Given the description of an element on the screen output the (x, y) to click on. 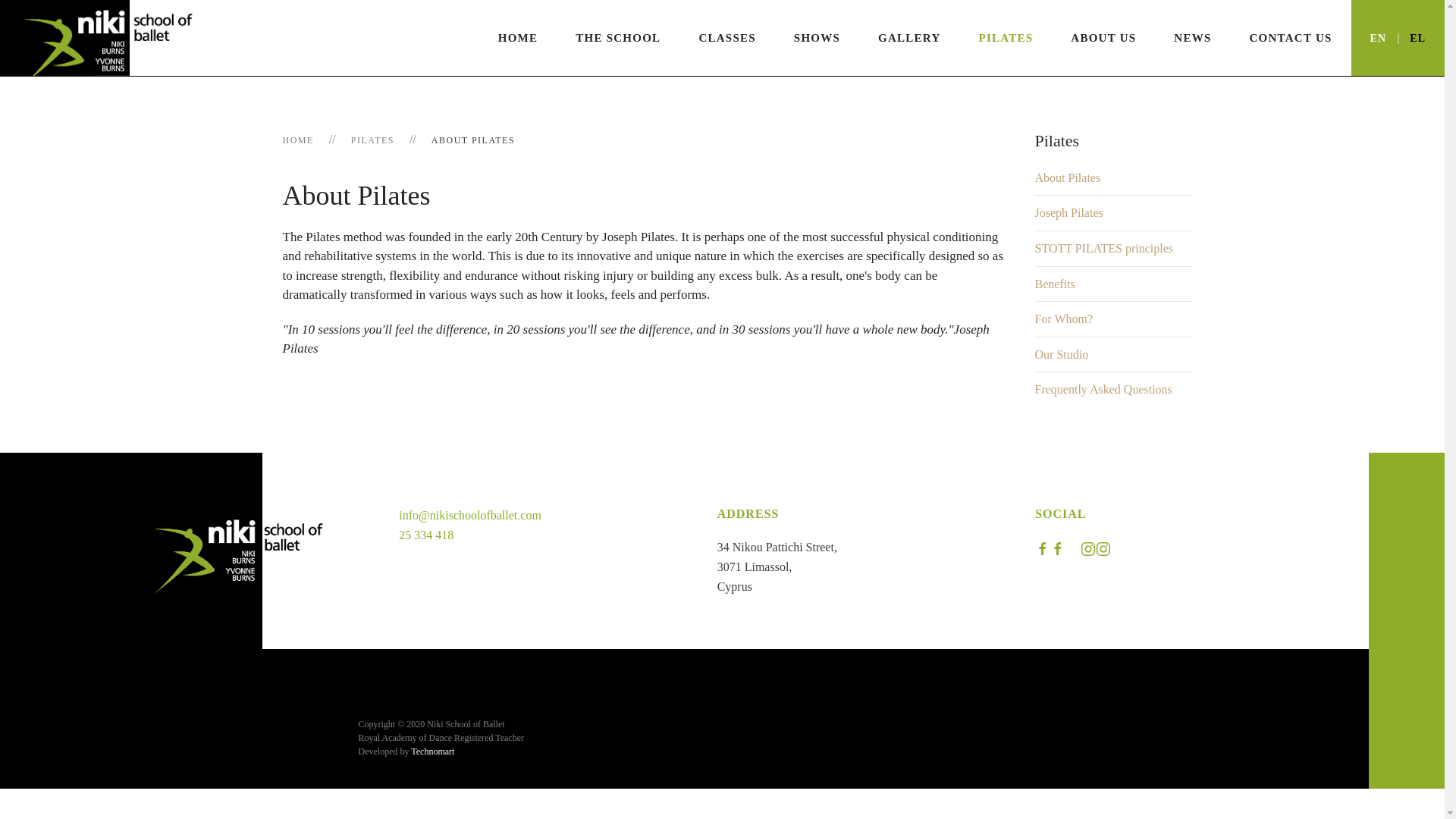
HOME (518, 38)
THE SCHOOL (617, 38)
